Given the description of an element on the screen output the (x, y) to click on. 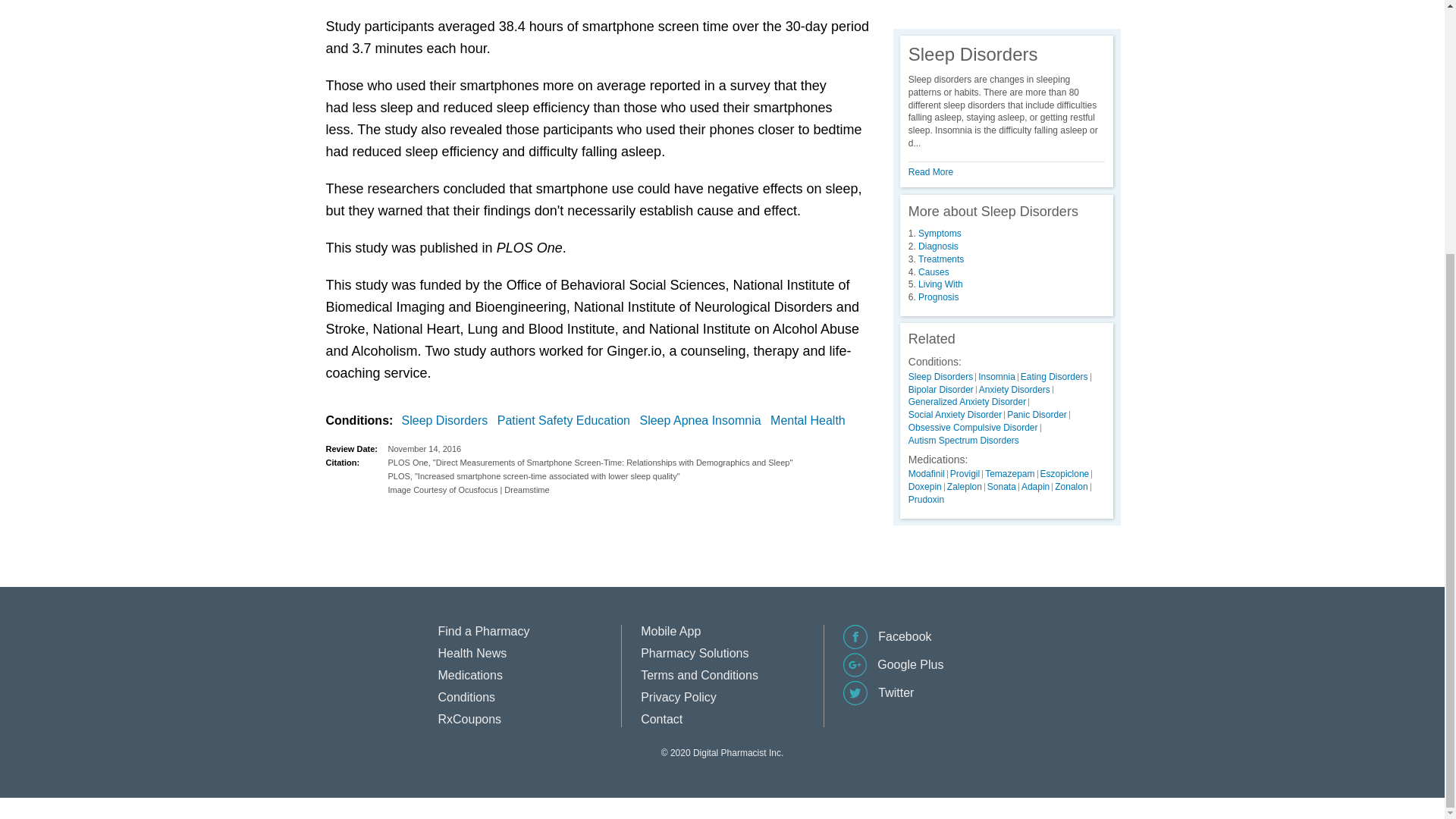
Patient Safety Education (566, 420)
Sleep Disorders (448, 420)
Sleep Apnea Insomnia (703, 420)
Mental Health (810, 420)
